Given the description of an element on the screen output the (x, y) to click on. 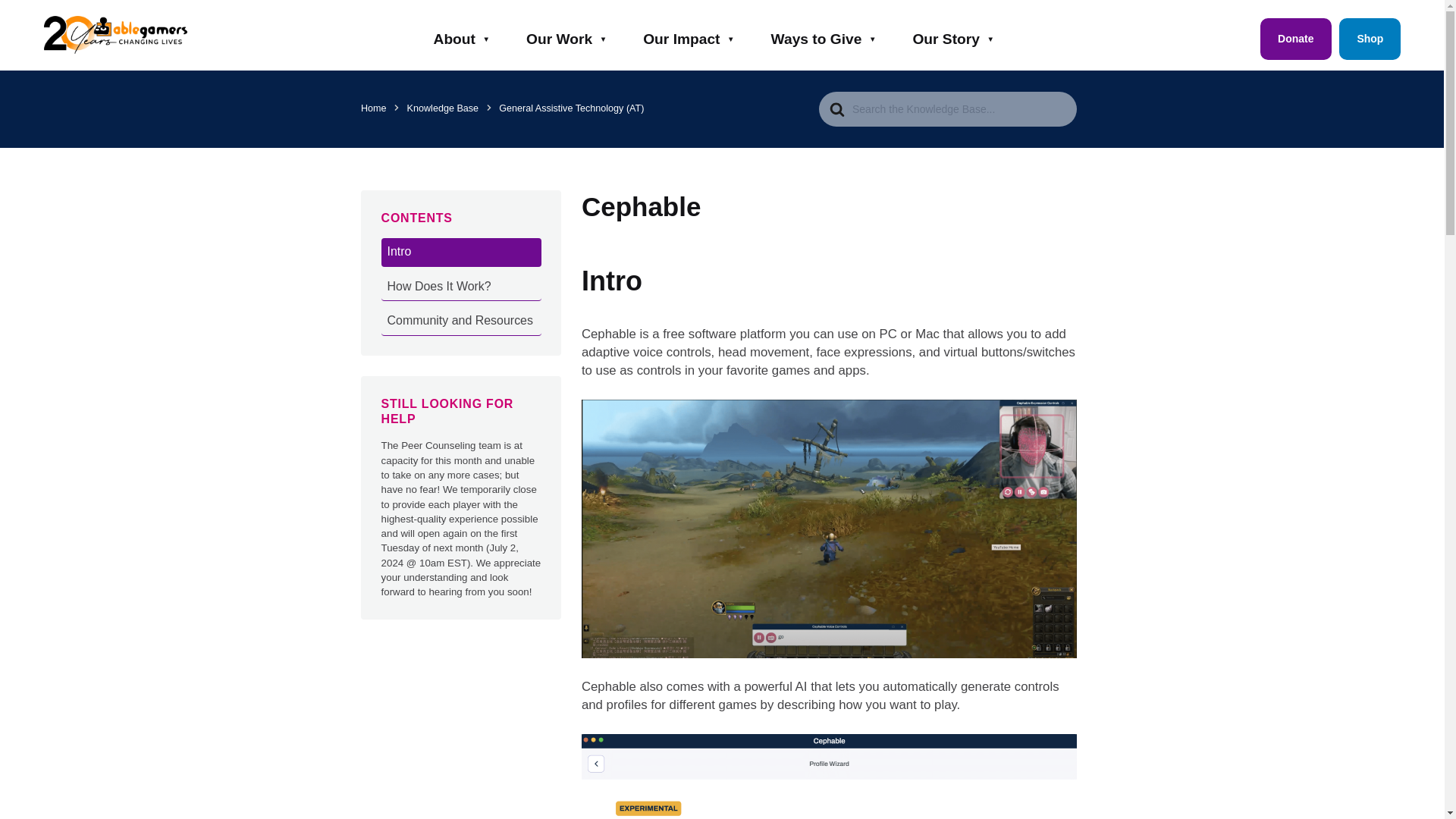
About (464, 35)
Home (374, 108)
Our Story (955, 35)
Our Work (568, 35)
AbleGamers (105, 35)
Knowledge Base (443, 108)
Our Impact (691, 35)
Ways to Give (825, 35)
Shop (1369, 38)
Donate (1295, 38)
